Given the description of an element on the screen output the (x, y) to click on. 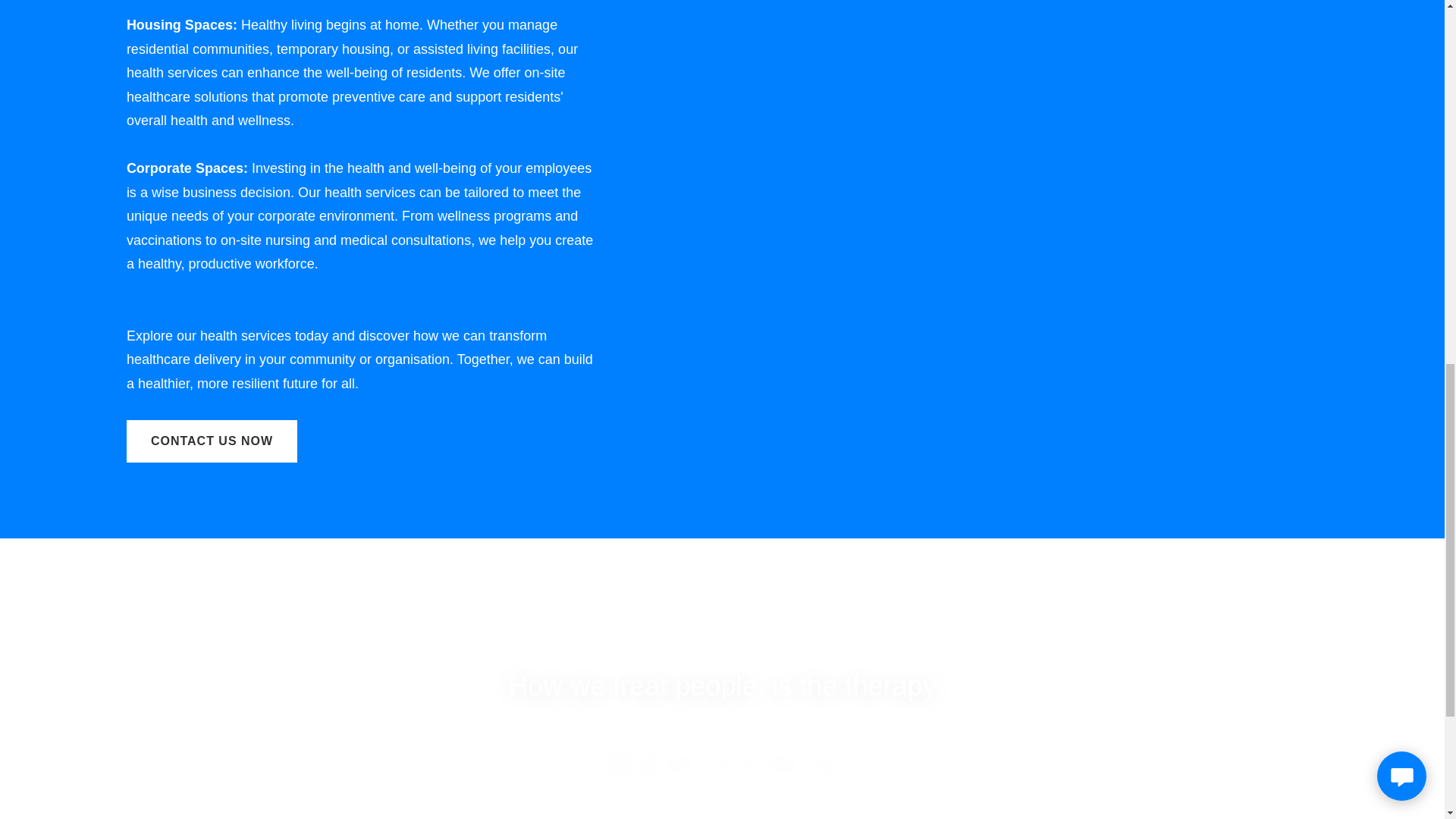
CONTACT US NOW (211, 441)
ACCEPT (1274, 324)
